Given the description of an element on the screen output the (x, y) to click on. 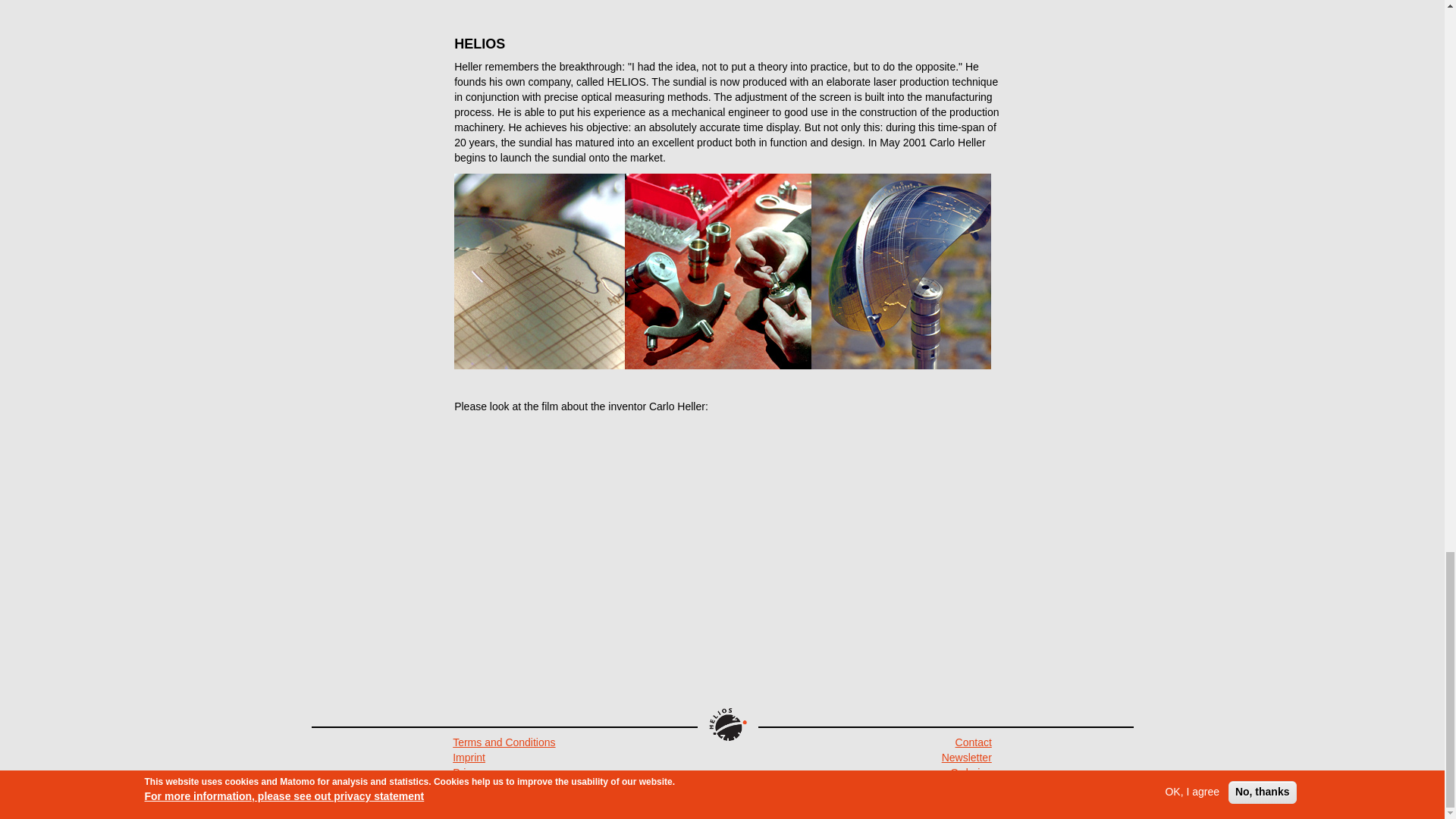
Privacy (469, 772)
Terms and Conditions (503, 742)
Newsletter (966, 757)
Ordering (970, 772)
Imprint (468, 757)
Contact (973, 742)
